Given the description of an element on the screen output the (x, y) to click on. 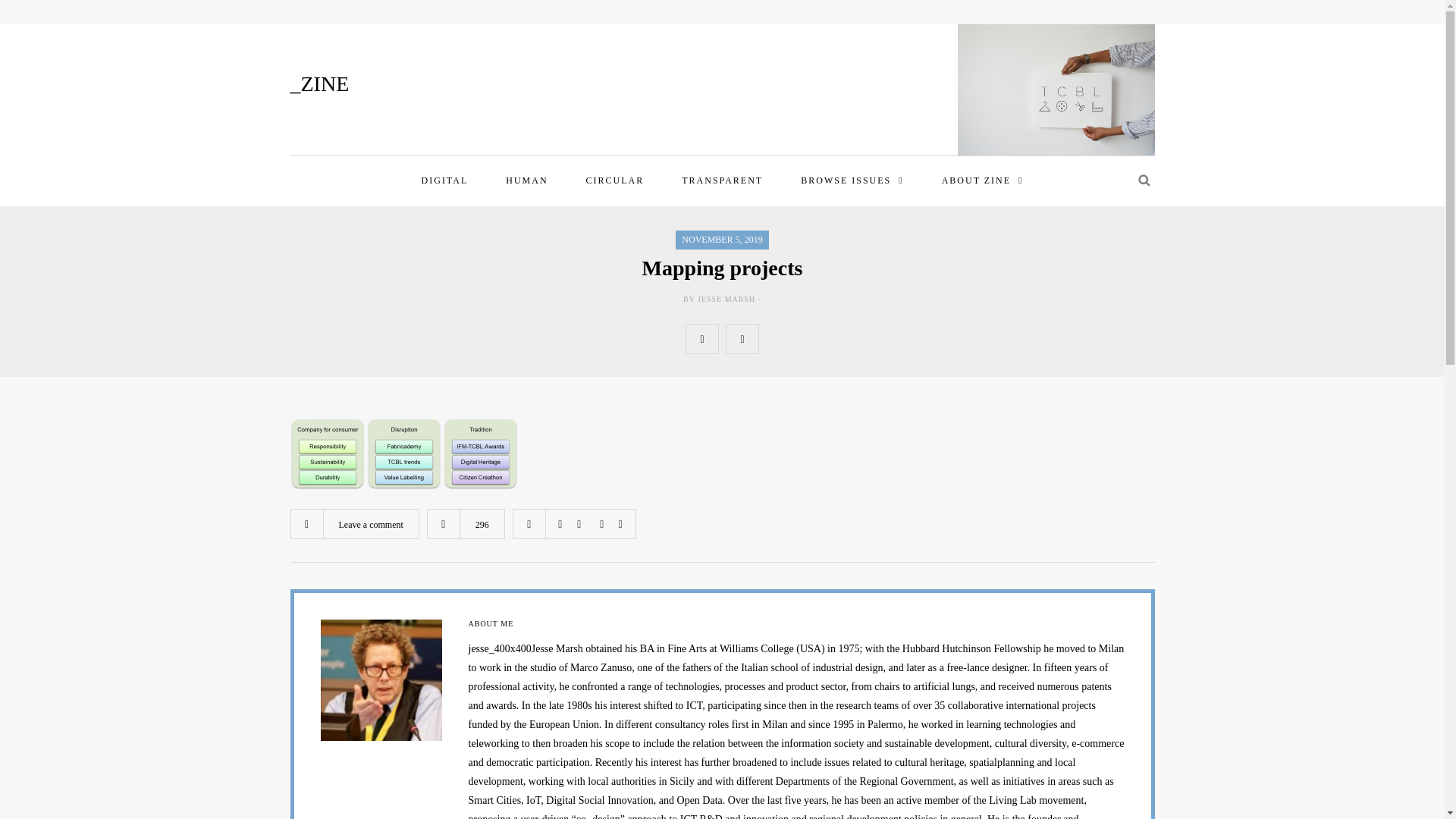
ABOUT ZINE (982, 180)
Post views (482, 523)
TRANSPARENT (722, 180)
Leave a comment (370, 524)
Post views (443, 523)
BROWSE ISSUES (851, 180)
DIGITAL (444, 180)
HUMAN (526, 180)
CIRCULAR (614, 180)
